Given the description of an element on the screen output the (x, y) to click on. 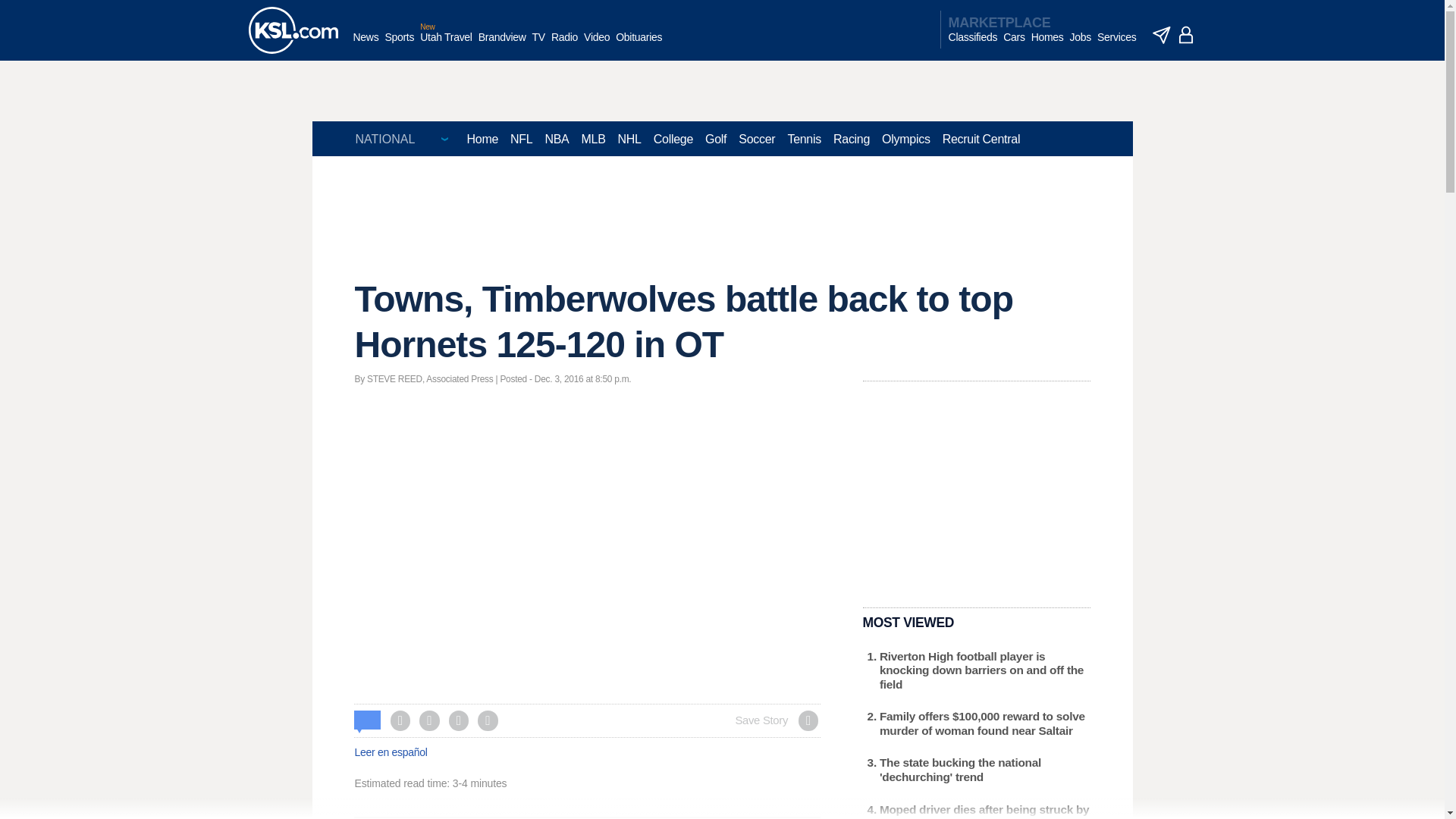
account - logged out (1185, 34)
KSL homepage (292, 29)
Utah Travel (445, 45)
Sports (398, 45)
Brandview (502, 45)
KSL homepage (292, 30)
